Given the description of an element on the screen output the (x, y) to click on. 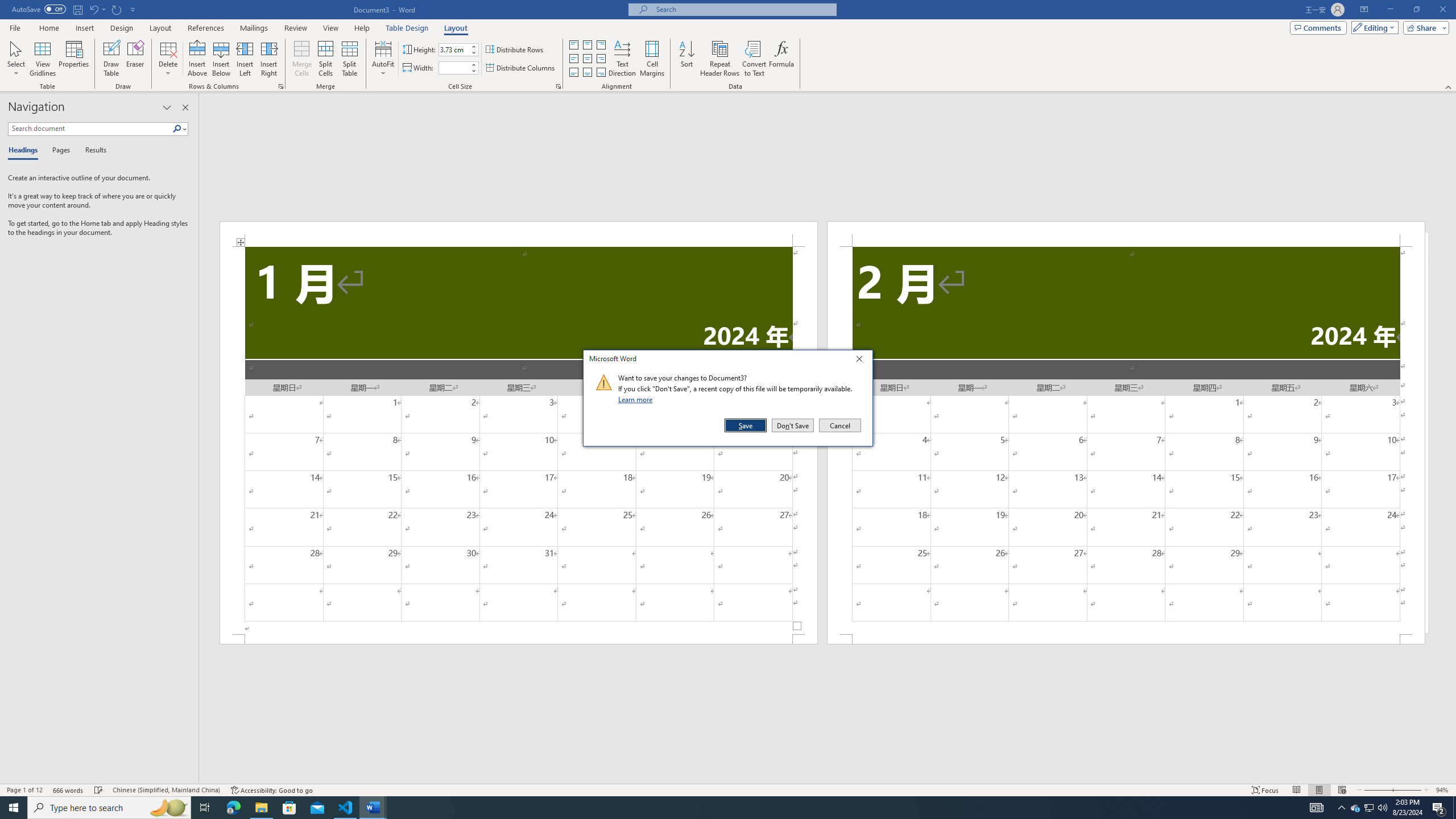
Align Bottom Justified (573, 72)
More (473, 64)
Zoom In (1407, 790)
Collapse the Ribbon (1448, 86)
Mode (1372, 27)
Task View (204, 807)
Split Table (349, 58)
Design (122, 28)
Insert Below (220, 58)
Align Center Justified (573, 58)
Insert Left (244, 58)
Text Direction (622, 58)
Review (295, 28)
Word Count 666 words (68, 790)
